Given the description of an element on the screen output the (x, y) to click on. 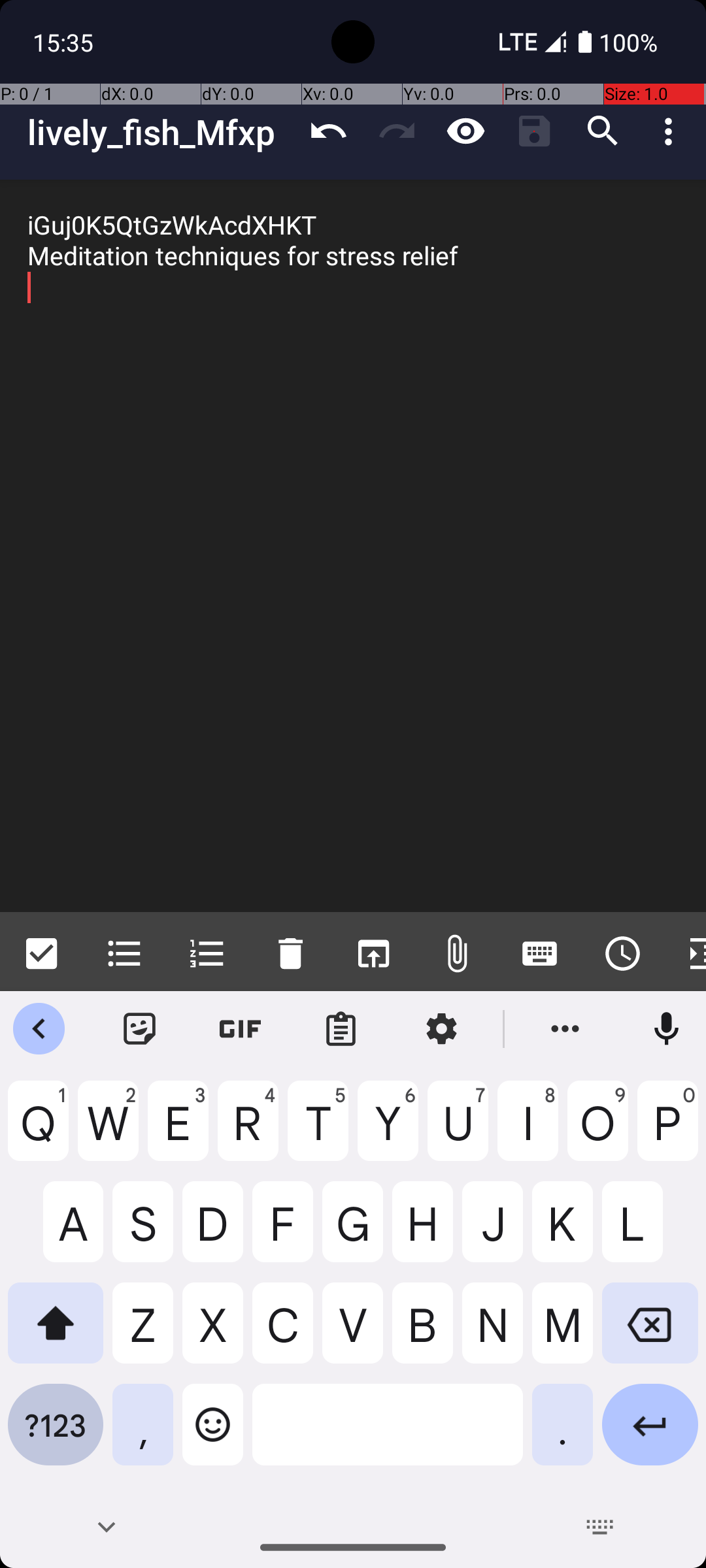
lively_fish_Mfxp Element type: android.widget.TextView (160, 131)
iGuj0K5QtGzWkAcdXHKT
Meditation techniques for stress relief
 Element type: android.widget.EditText (353, 545)
